Given the description of an element on the screen output the (x, y) to click on. 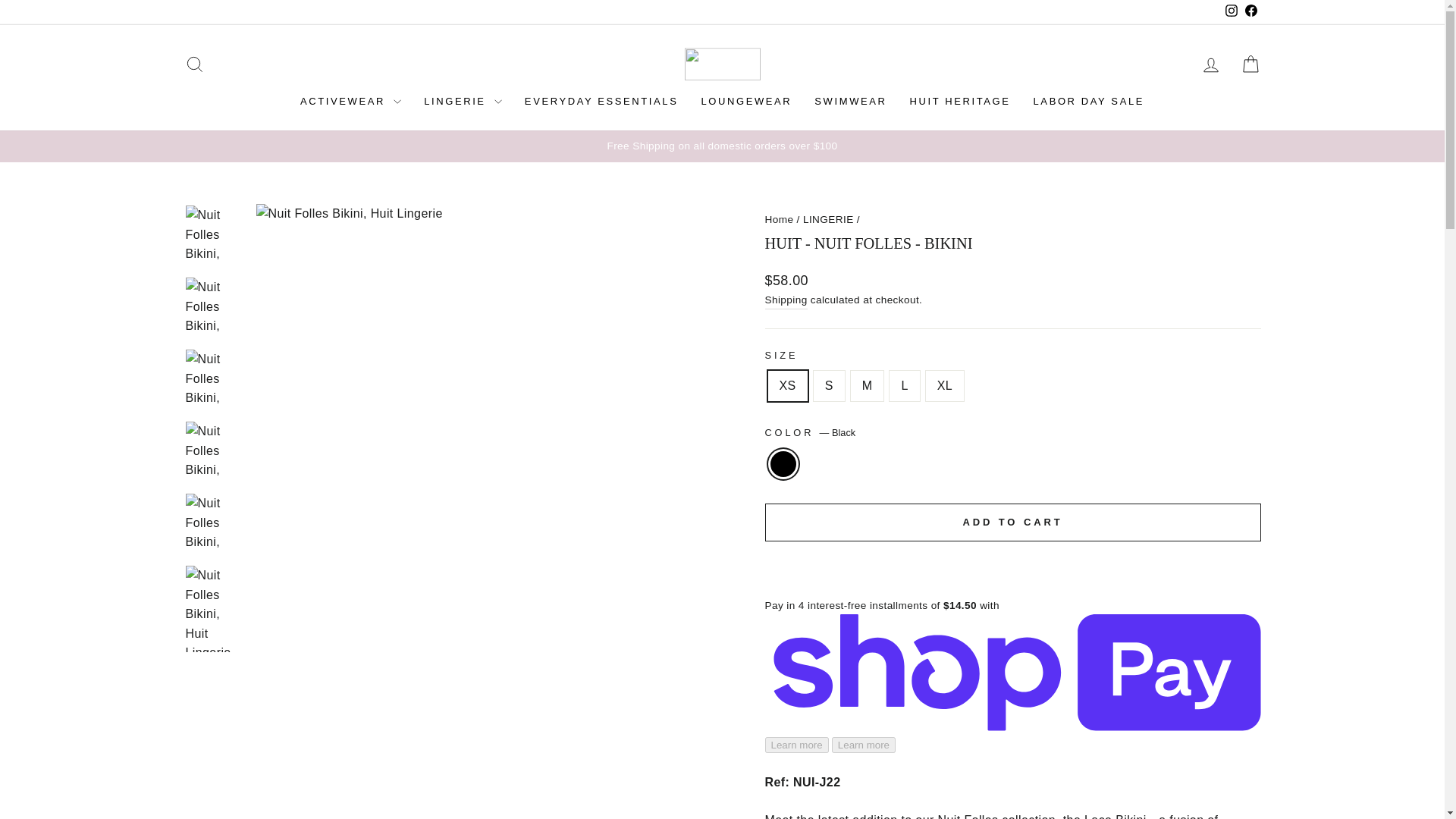
instagram (1231, 10)
CART (1249, 63)
ACCOUNT (1210, 65)
Black (194, 63)
